Given the description of an element on the screen output the (x, y) to click on. 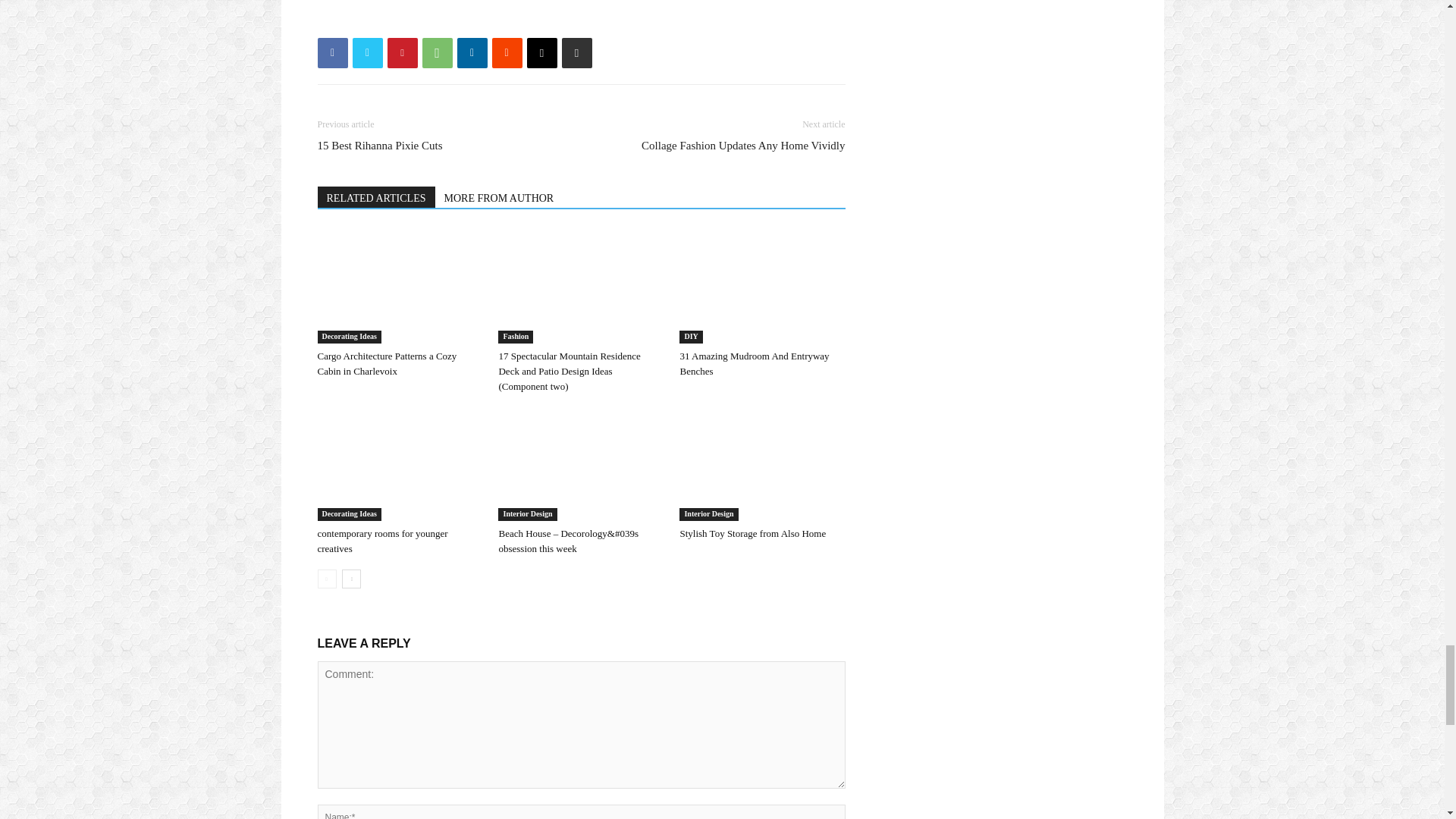
bottomFacebookLike (430, 19)
